Given the description of an element on the screen output the (x, y) to click on. 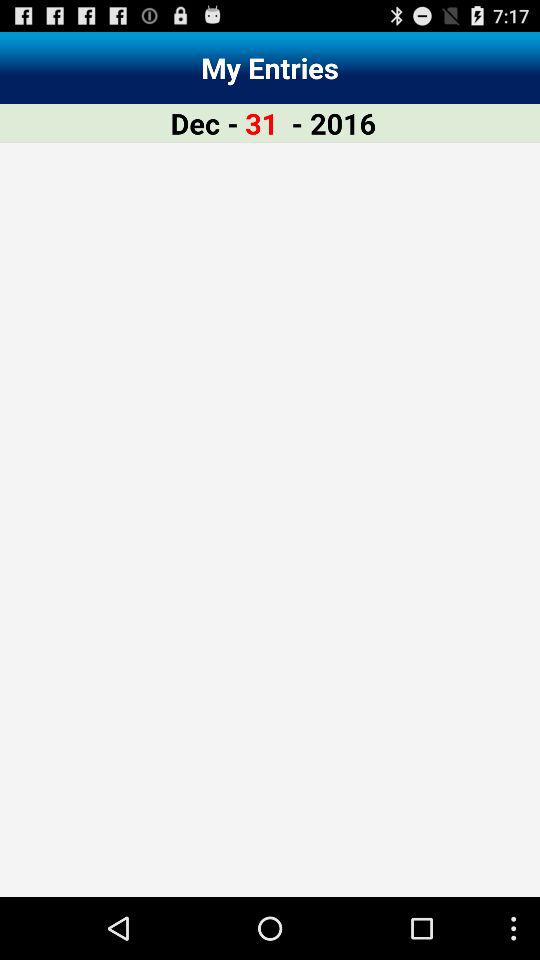
launch the item to the left of the - 2016 app (261, 122)
